Given the description of an element on the screen output the (x, y) to click on. 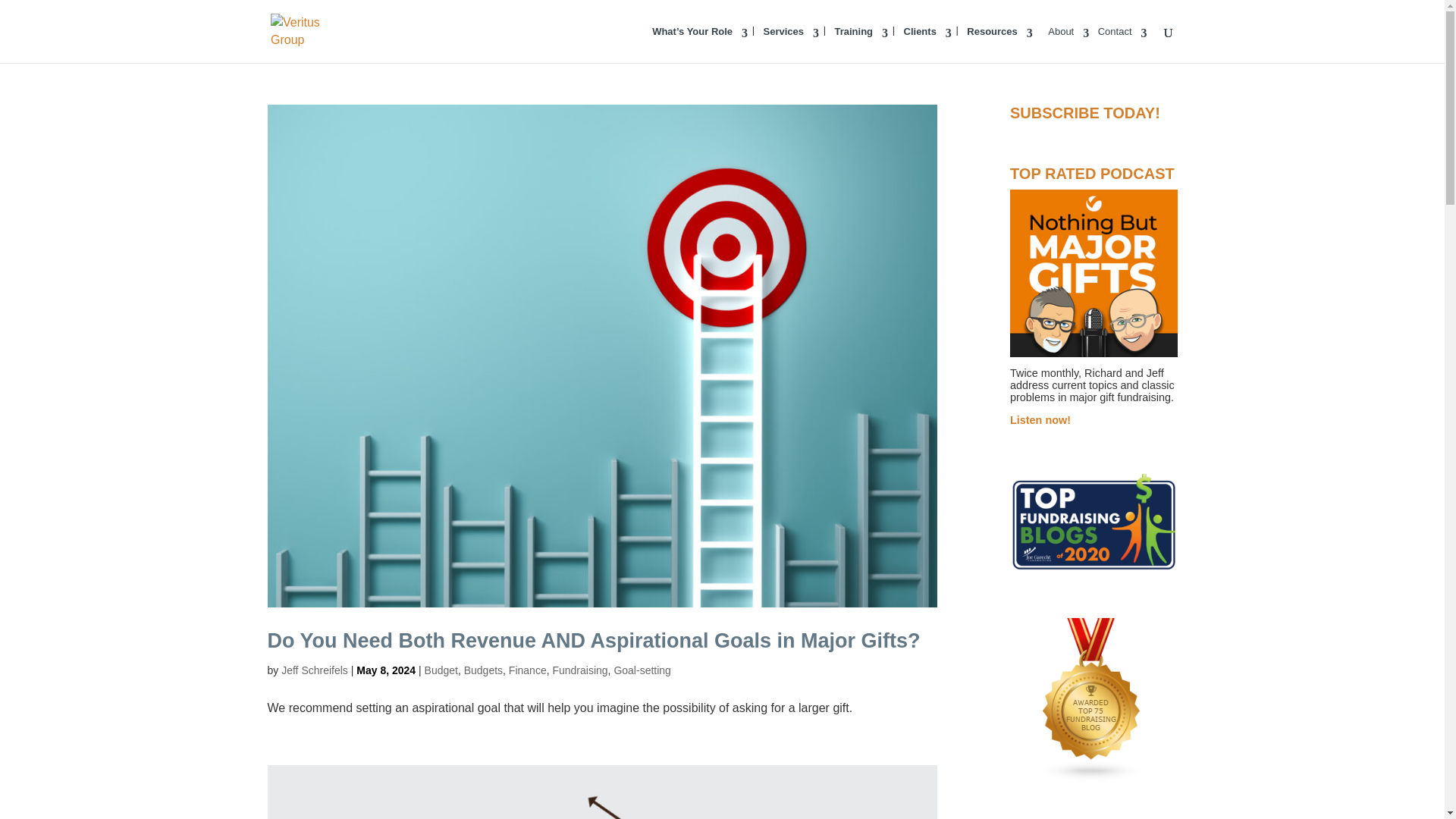
Resources (999, 44)
Posts by Jeff Schreifels (314, 670)
Training (861, 44)
Contact (1122, 44)
Services (790, 44)
Clients (928, 44)
About (1068, 44)
